Given the description of an element on the screen output the (x, y) to click on. 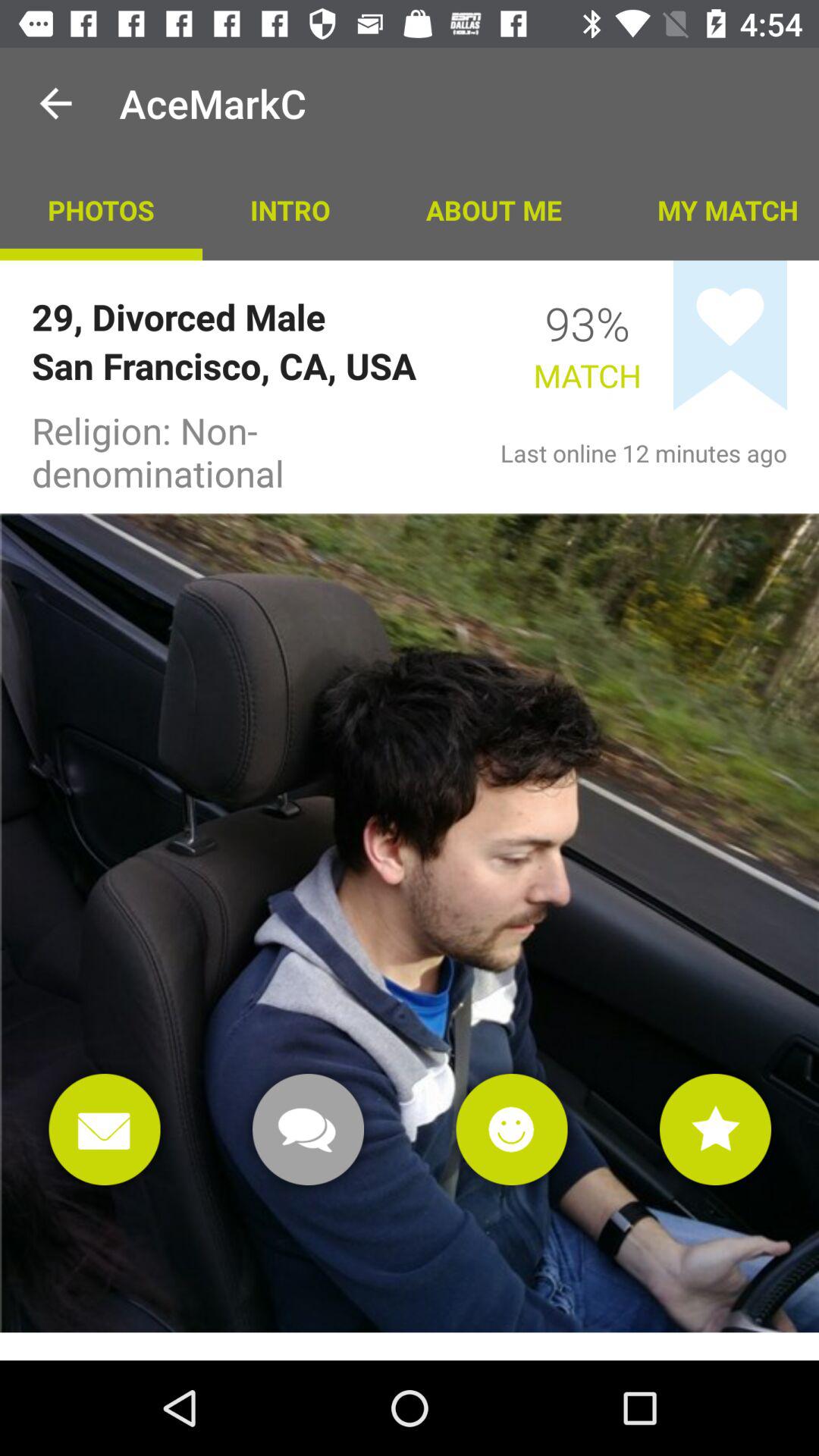
press the app next to the photos icon (290, 209)
